Given the description of an element on the screen output the (x, y) to click on. 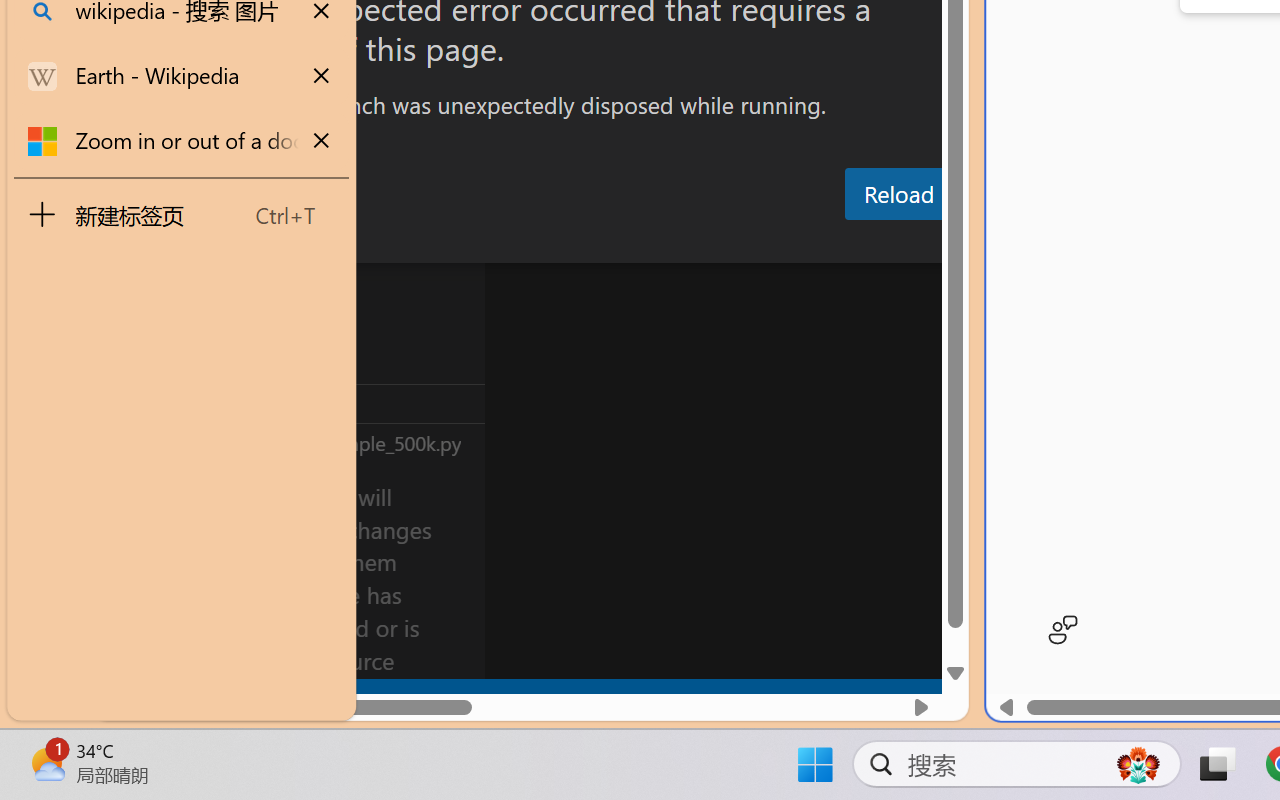
No Problems (212, 698)
Reload (898, 193)
